Given the description of an element on the screen output the (x, y) to click on. 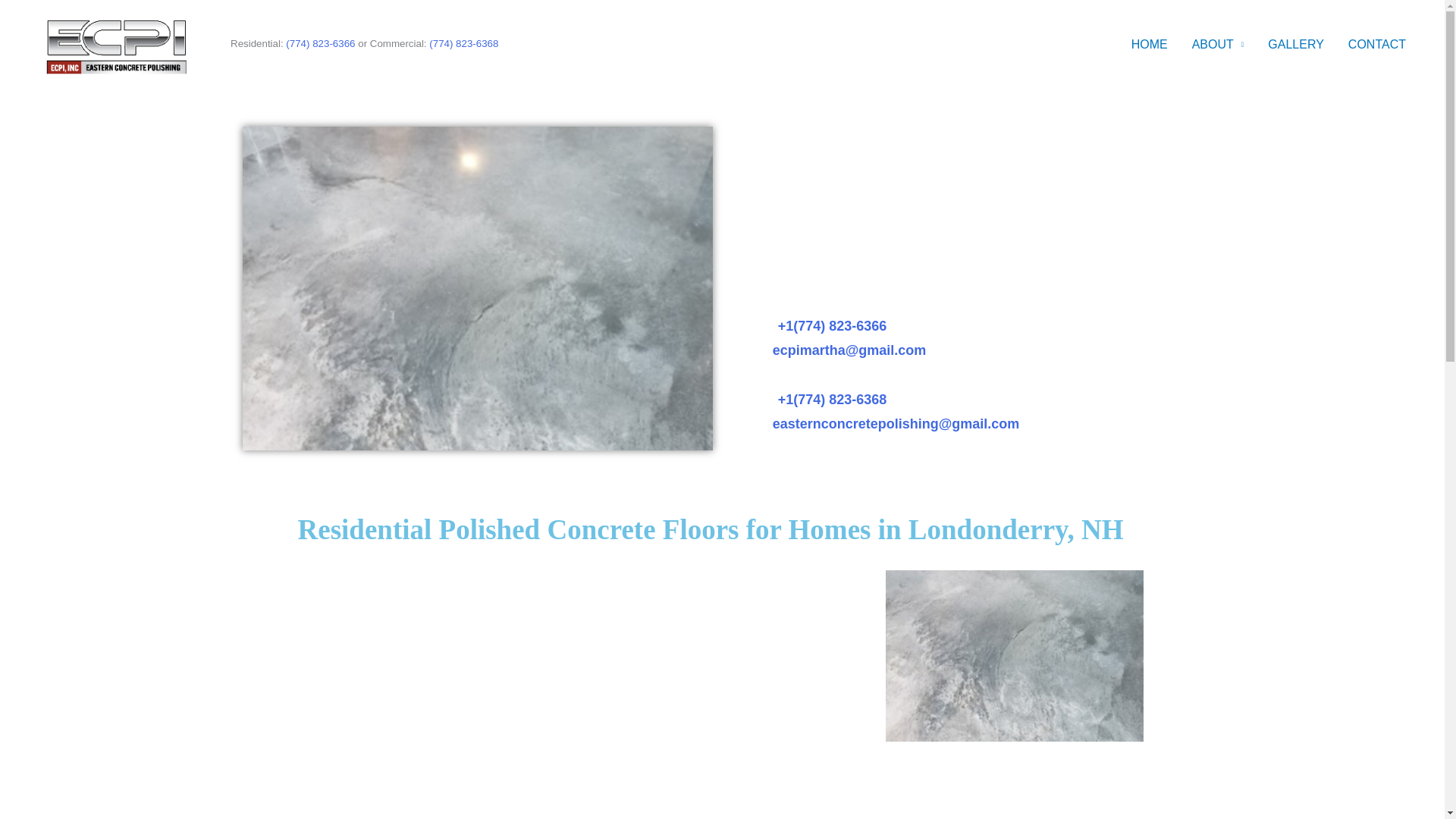
GALLERY (1295, 43)
HOME (1149, 43)
ABOUT (1217, 43)
CONTACT (1377, 43)
